Given the description of an element on the screen output the (x, y) to click on. 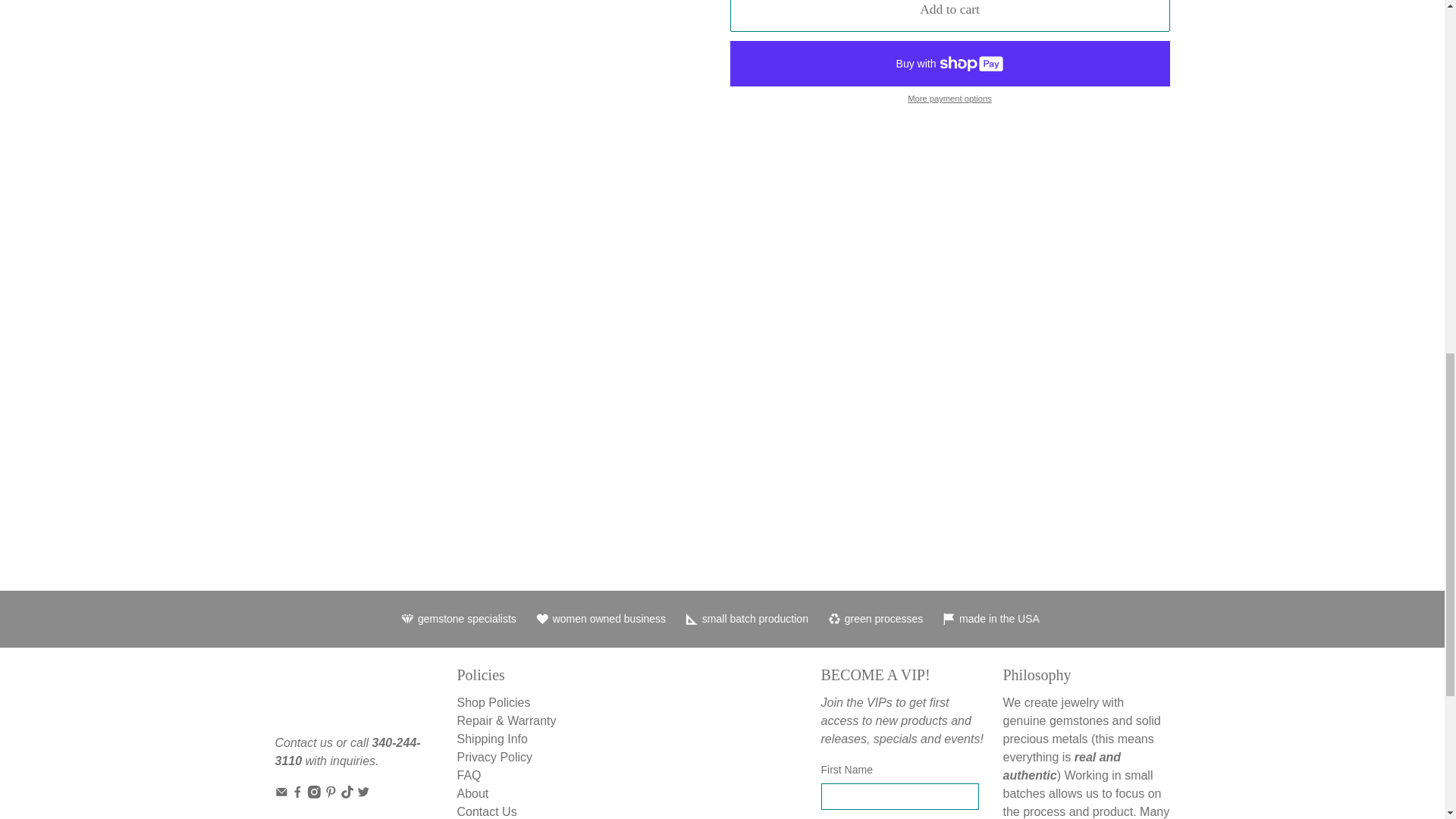
CY (1273, 128)
FantaSea Jewelry on Twitter (362, 793)
EC (1273, 277)
DK (1273, 183)
FantaSea Jewelry on Instagram (313, 793)
DM (1273, 210)
FantaSea Jewelry on Facebook (297, 793)
SV (1273, 304)
CR (1273, 19)
FantaSea Jewelry (324, 698)
CU (1273, 73)
CW (1273, 101)
CZ (1273, 155)
FantaSea Jewelry on Pinterest (330, 793)
Email FantaSea Jewelry (280, 793)
